Given the description of an element on the screen output the (x, y) to click on. 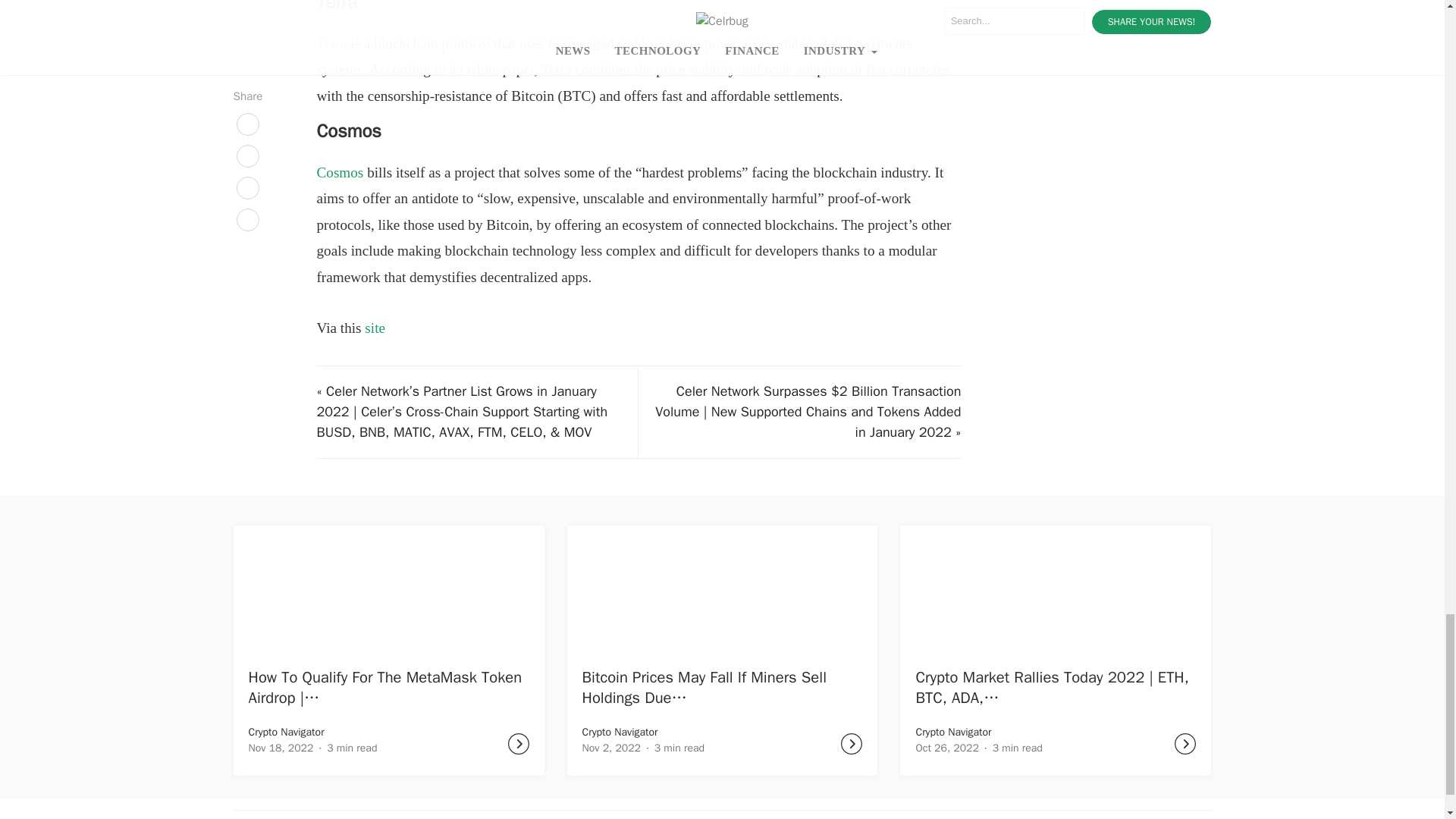
Terra (330, 43)
Crypto Navigator (620, 731)
site (375, 327)
Crypto Navigator (286, 731)
Cosmos (338, 172)
